Given the description of an element on the screen output the (x, y) to click on. 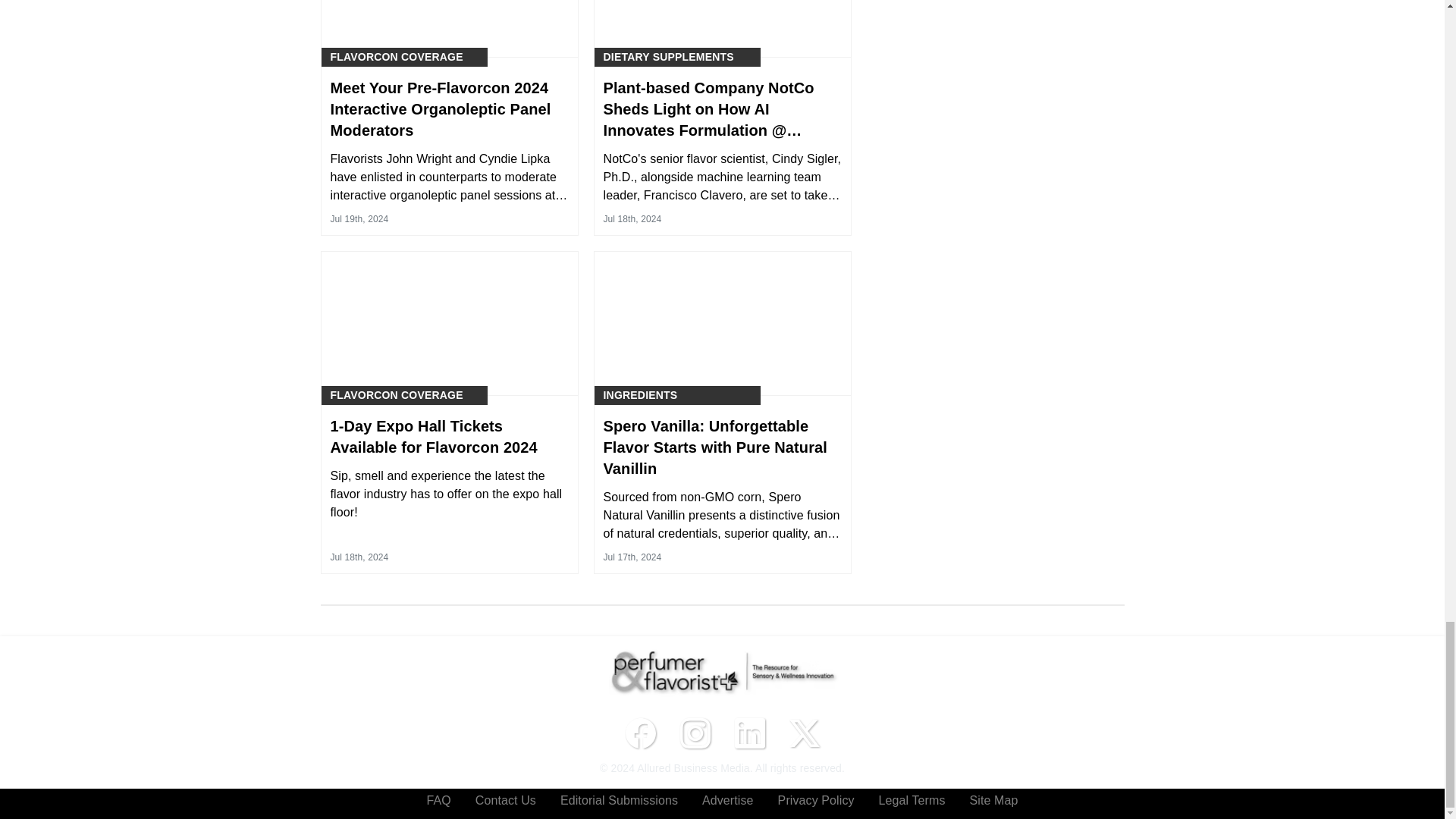
LinkedIn icon (748, 733)
Facebook icon (639, 733)
Twitter X icon (803, 733)
Instagram icon (694, 733)
